Given the description of an element on the screen output the (x, y) to click on. 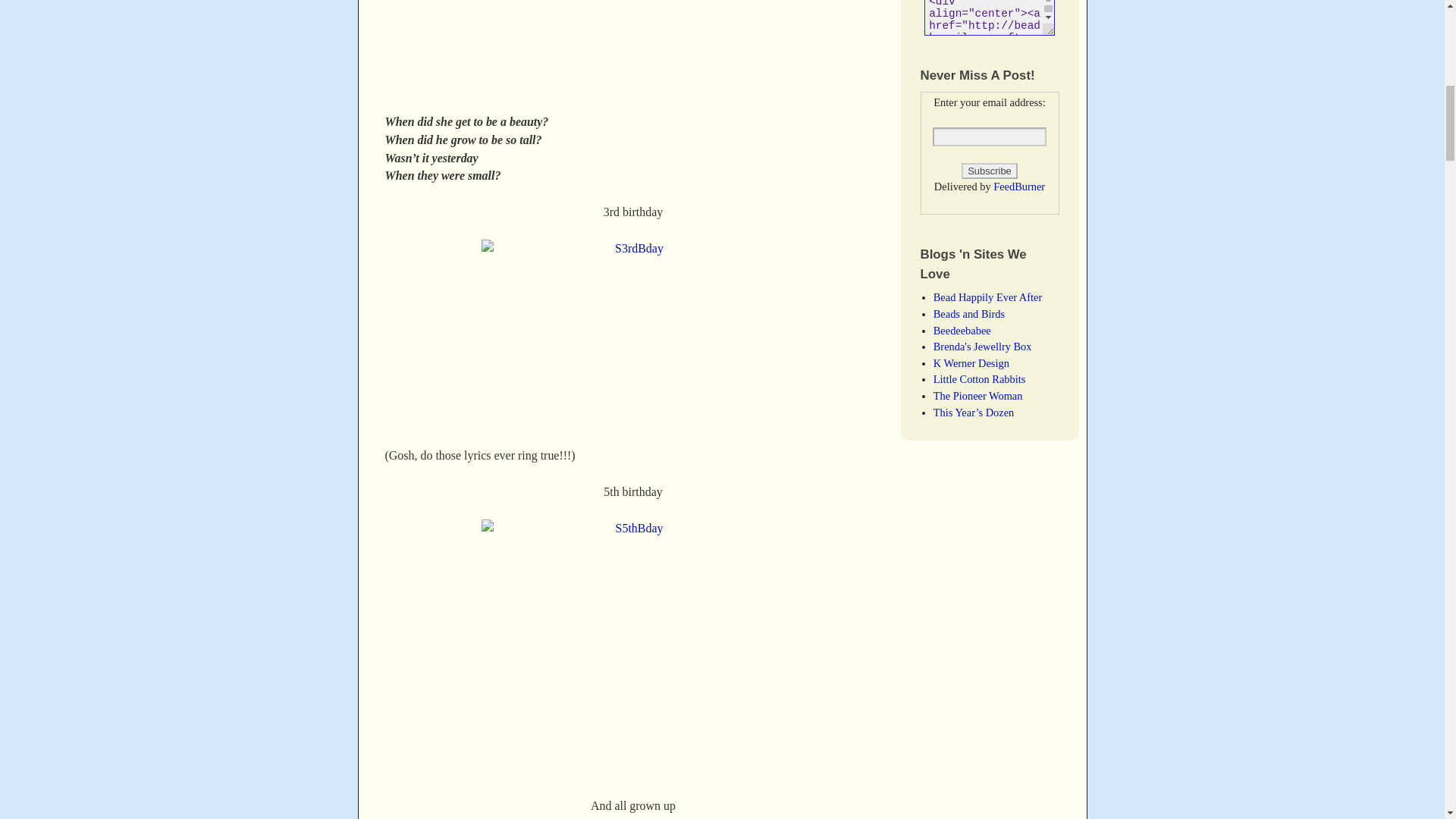
Subscribe (988, 170)
S5thBday (632, 648)
S3rdBday (632, 333)
S2ndBday (632, 47)
